Given the description of an element on the screen output the (x, y) to click on. 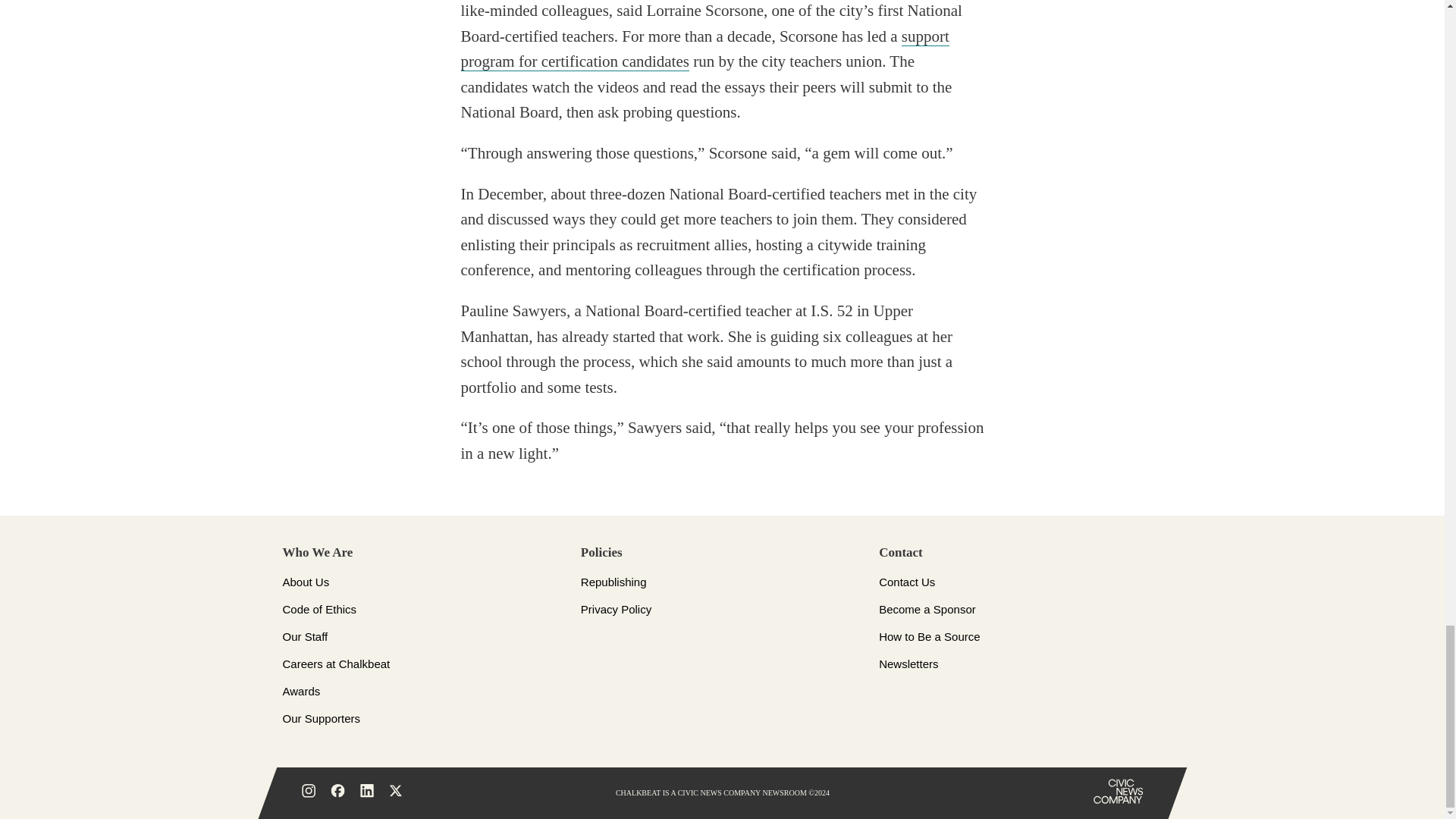
Become a Sponsor (927, 608)
Our Supporters (320, 717)
Awards (301, 690)
How to Be a Source (929, 635)
Our Staff (304, 635)
Careers at Chalkbeat (336, 663)
support program for certification candidates (705, 49)
Republishing (613, 581)
Privacy Policy (615, 608)
Newsletters (908, 663)
